Given the description of an element on the screen output the (x, y) to click on. 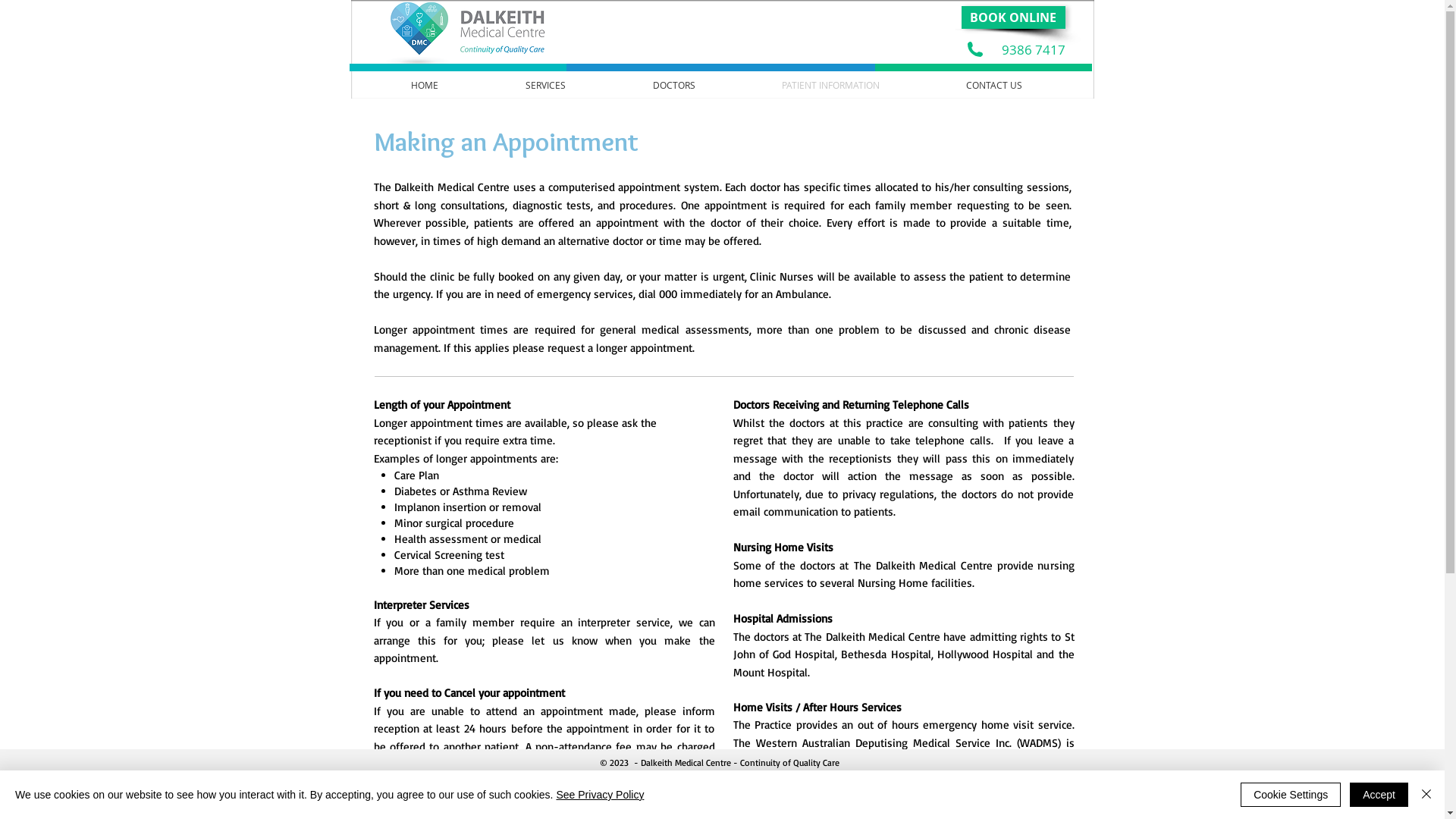
PATIENT INFORMATION Element type: text (830, 84)
Accept Element type: text (1378, 794)
See Privacy Policy Element type: text (599, 794)
CONTACT US Element type: text (993, 84)
BOOK ONLINE Element type: text (1013, 17)
DOCTORS Element type: text (673, 84)
SERVICES Element type: text (545, 84)
HOME Element type: text (424, 84)
admin@dalkeithmedical.com.au Element type: text (845, 794)
9386 7417 Element type: text (1032, 49)
Cookie Settings Element type: text (1290, 794)
